Given the description of an element on the screen output the (x, y) to click on. 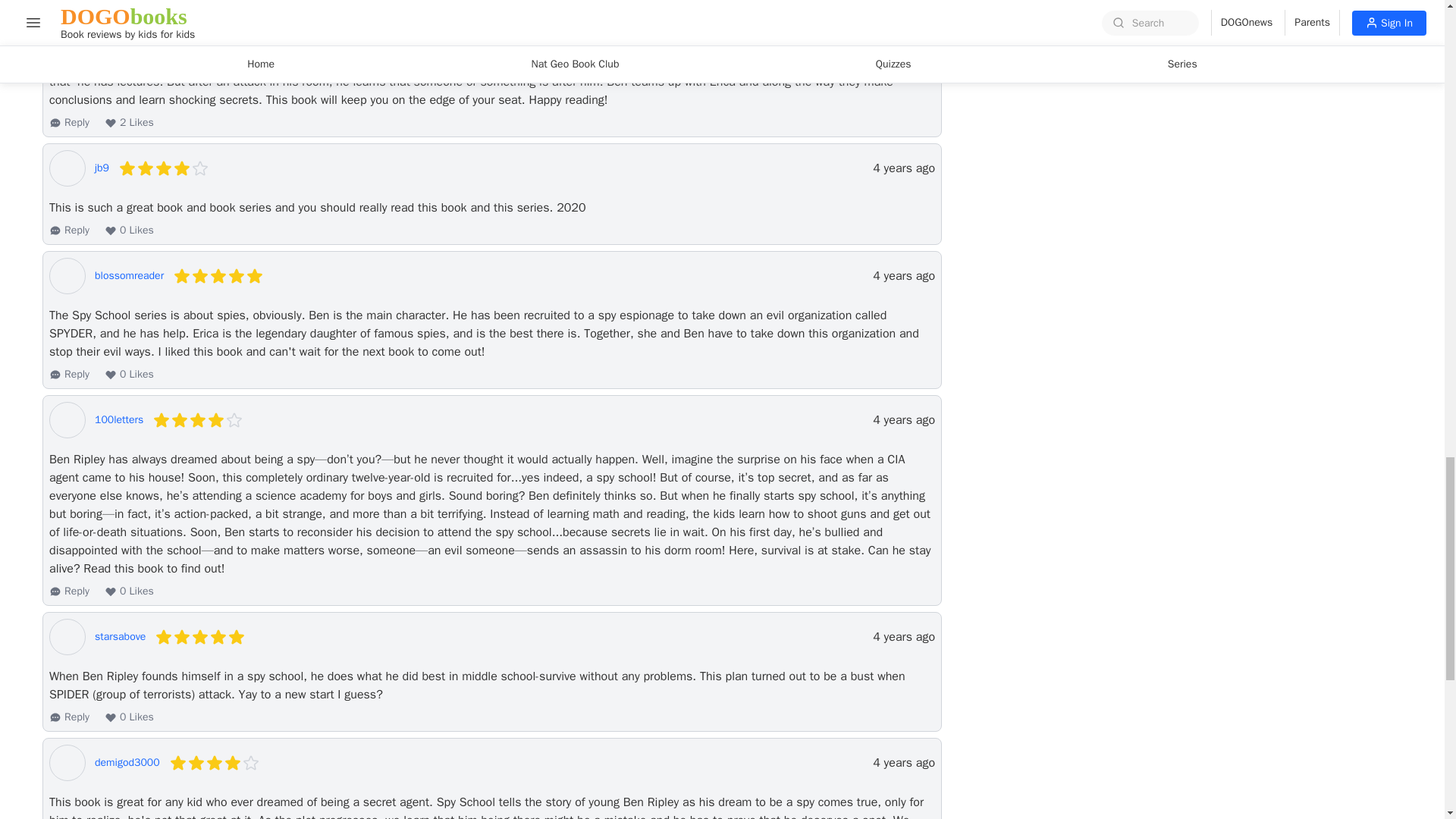
Reply (68, 230)
Reply (68, 122)
August 17, 2020 (903, 275)
0 Likes (129, 374)
June 17, 2020 (903, 762)
July 20, 2020 (903, 637)
August 2, 2020 (903, 420)
2 Likes (129, 122)
blossomreader (128, 275)
0 Likes (129, 230)
